Given the description of an element on the screen output the (x, y) to click on. 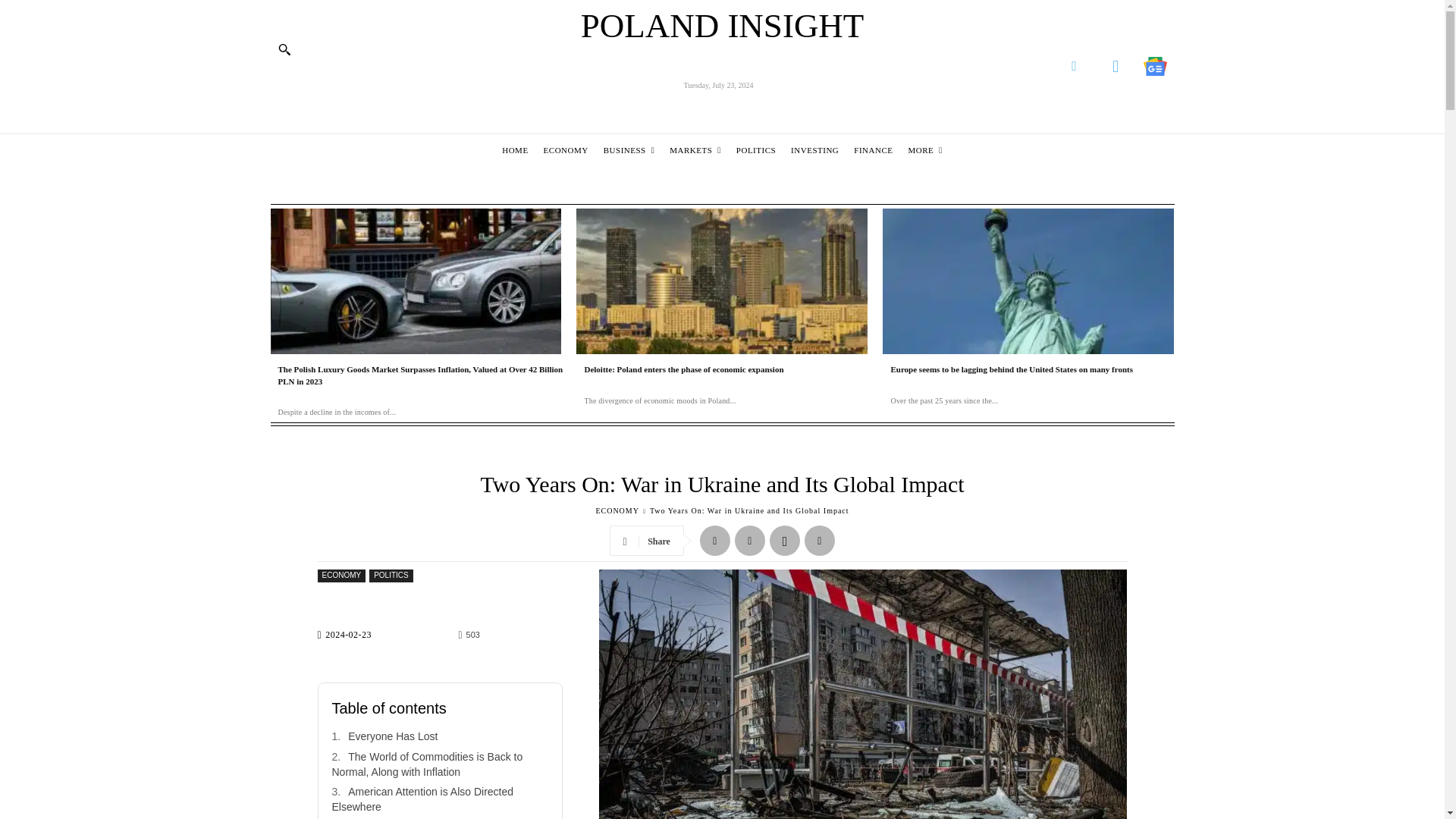
POLAND INSIGHT (722, 26)
ECONOMY (566, 149)
Linkedin (1073, 65)
BUSINESS (629, 149)
HOME (514, 149)
Twitter (1115, 65)
Poland Insight (722, 26)
